Given the description of an element on the screen output the (x, y) to click on. 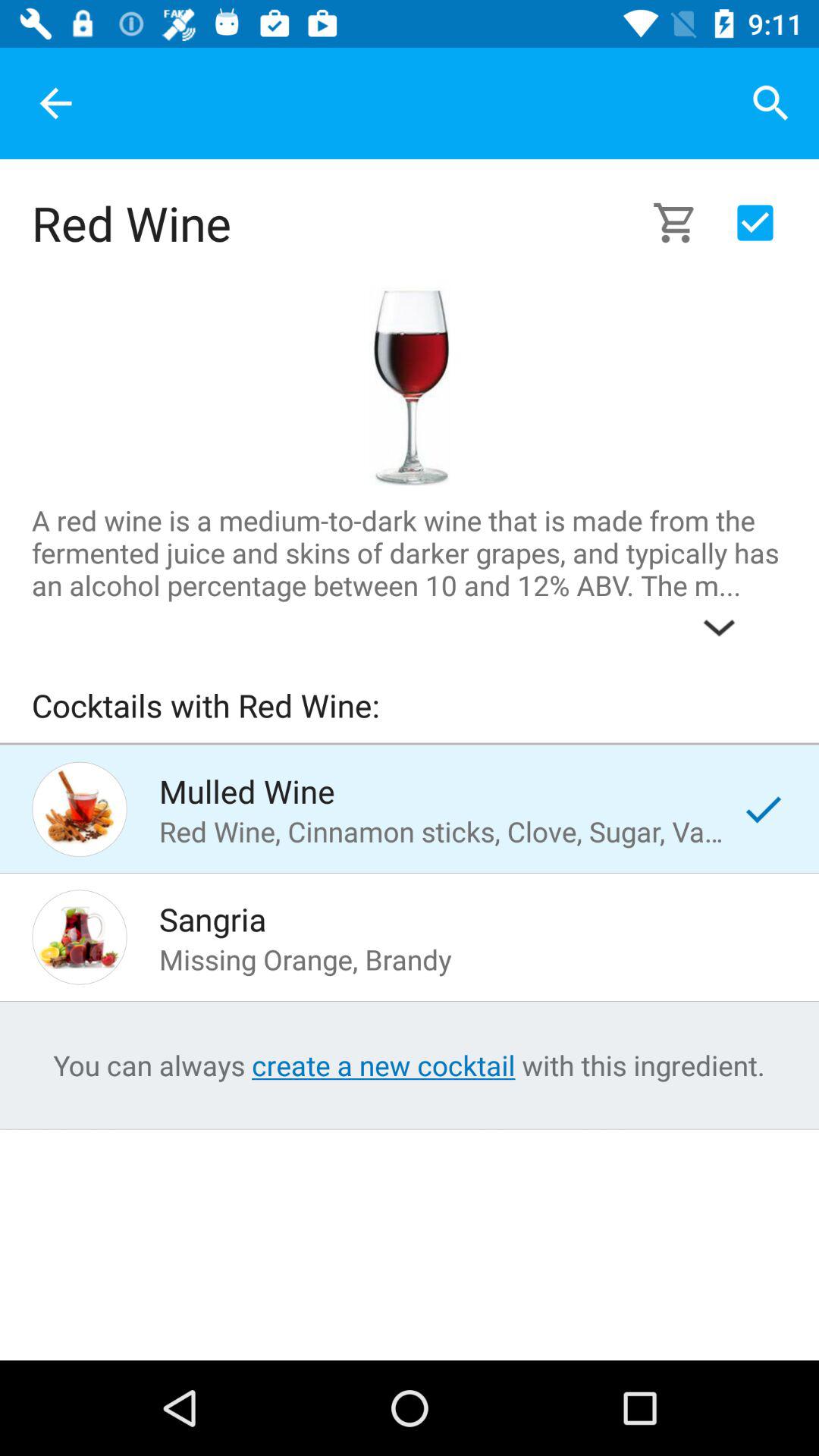
open cart (683, 222)
